Given the description of an element on the screen output the (x, y) to click on. 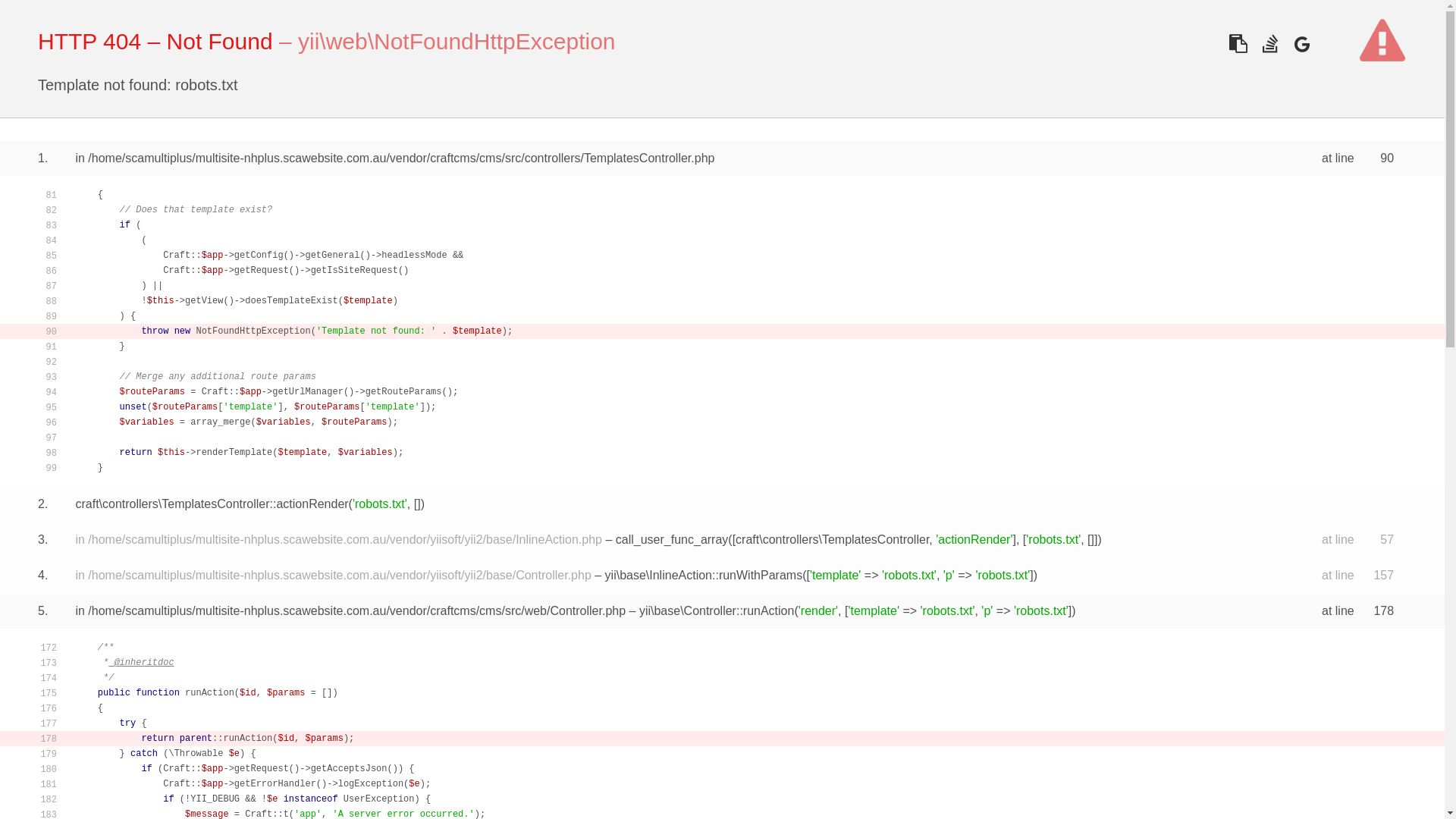
Search error on Google Element type: hover (1301, 43)
Copy the stacktrace for use in a bug report or pastebin Element type: hover (1237, 43)
yii\web\NotFoundHttpException Element type: text (456, 40)
Search error on Stackoverflow Element type: hover (1269, 43)
yii\base\Controller::runAction Element type: text (716, 610)
yii\base\InlineAction::runWithParams Element type: text (704, 574)
